Given the description of an element on the screen output the (x, y) to click on. 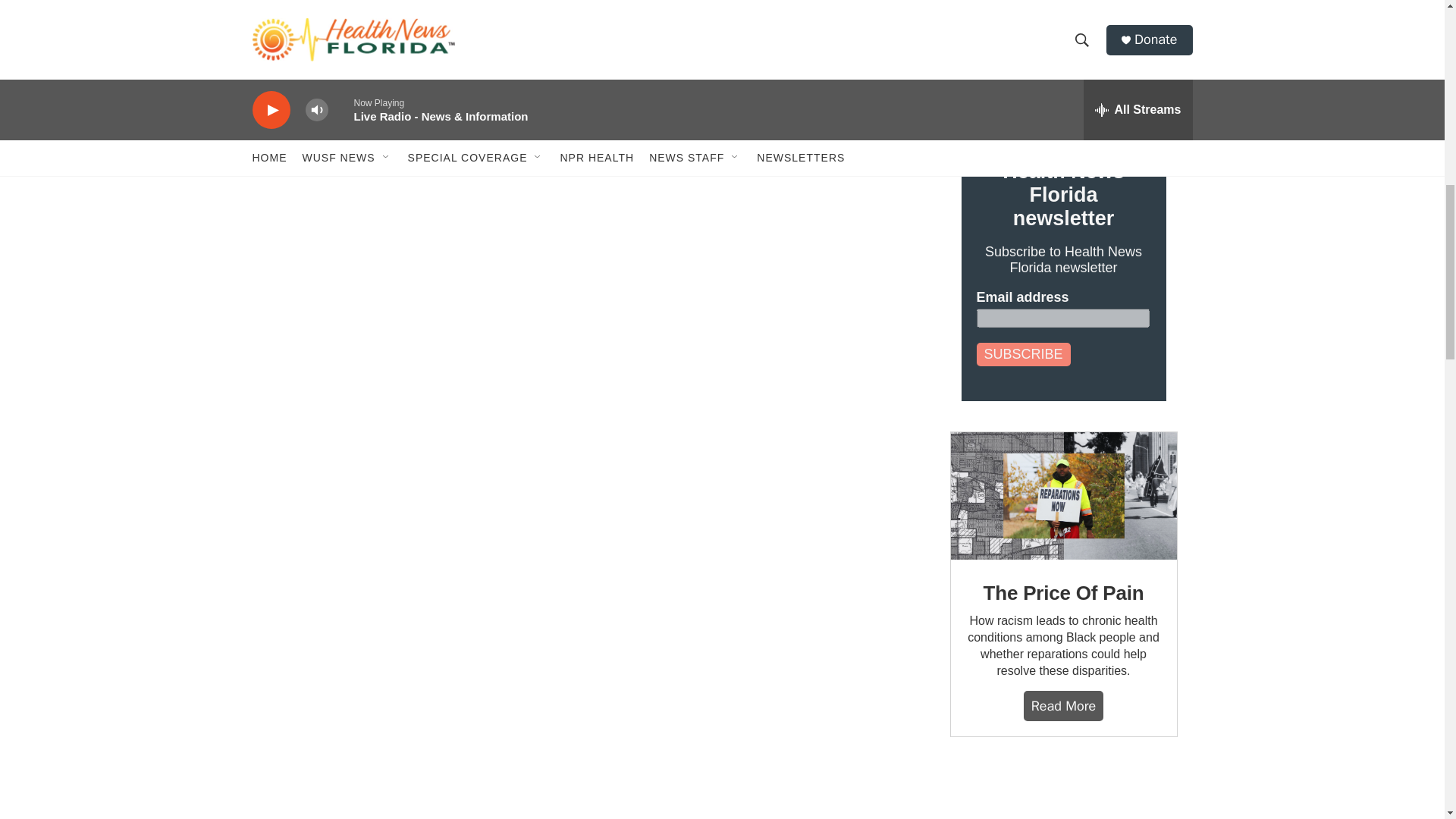
3rd party ad content (1062, 793)
